Given the description of an element on the screen output the (x, y) to click on. 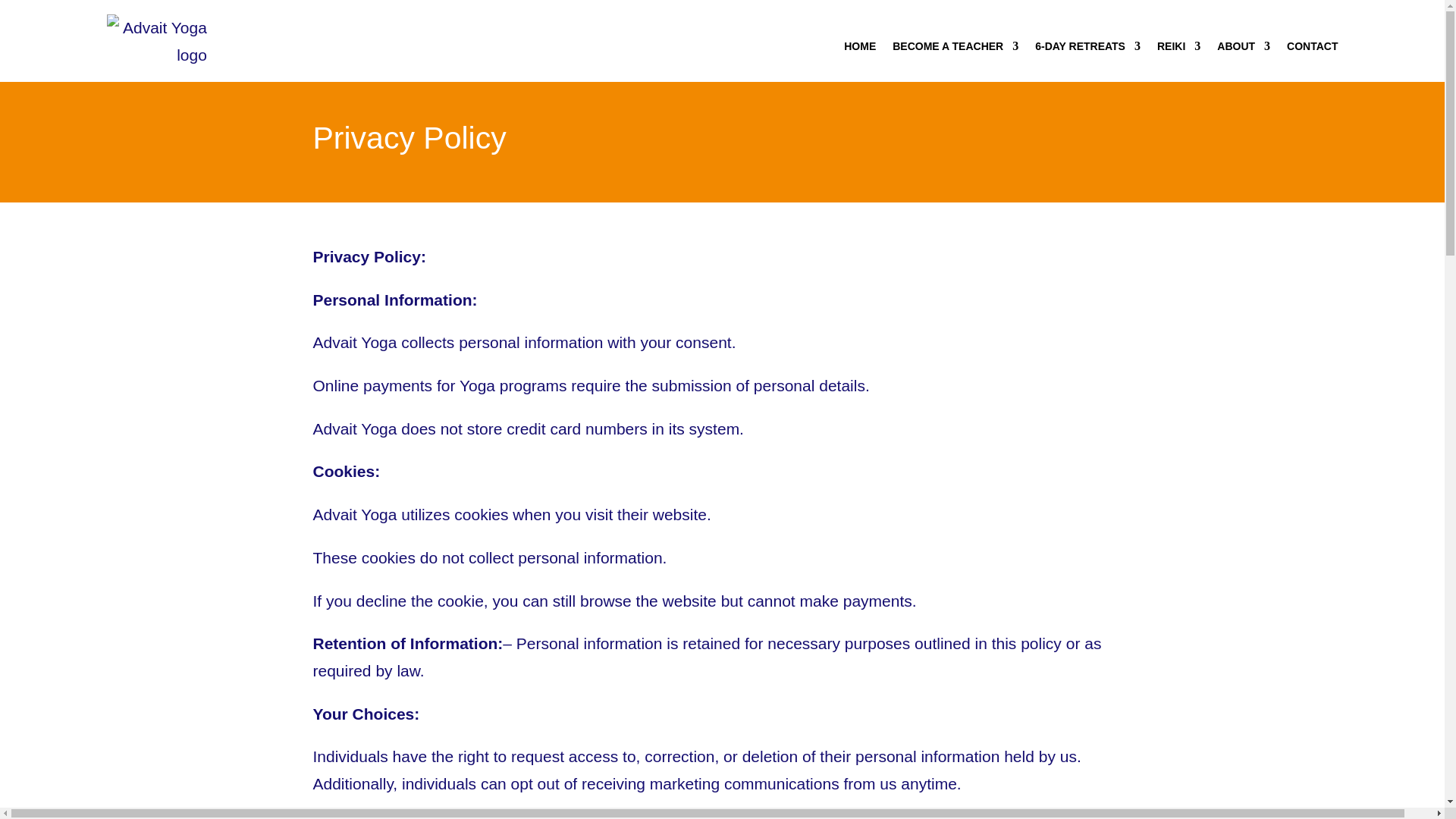
CONTACT (1312, 45)
HOME (860, 45)
REIKI (1178, 45)
6-DAY RETREATS (1087, 45)
BECOME A TEACHER (954, 45)
ABOUT (1243, 45)
